Given the description of an element on the screen output the (x, y) to click on. 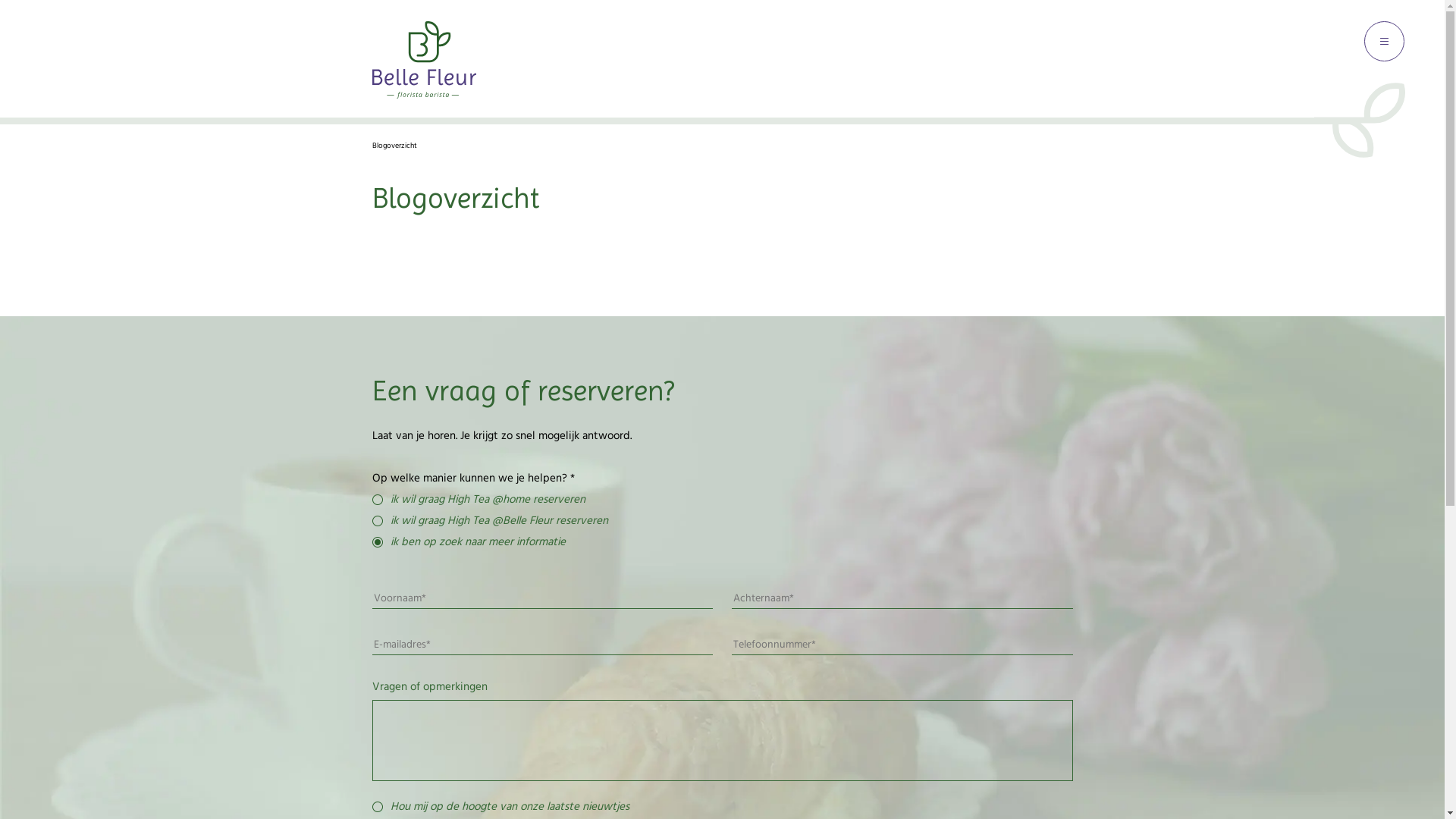
Blogoverzicht Element type: text (393, 145)
Home Element type: hover (423, 95)
